Given the description of an element on the screen output the (x, y) to click on. 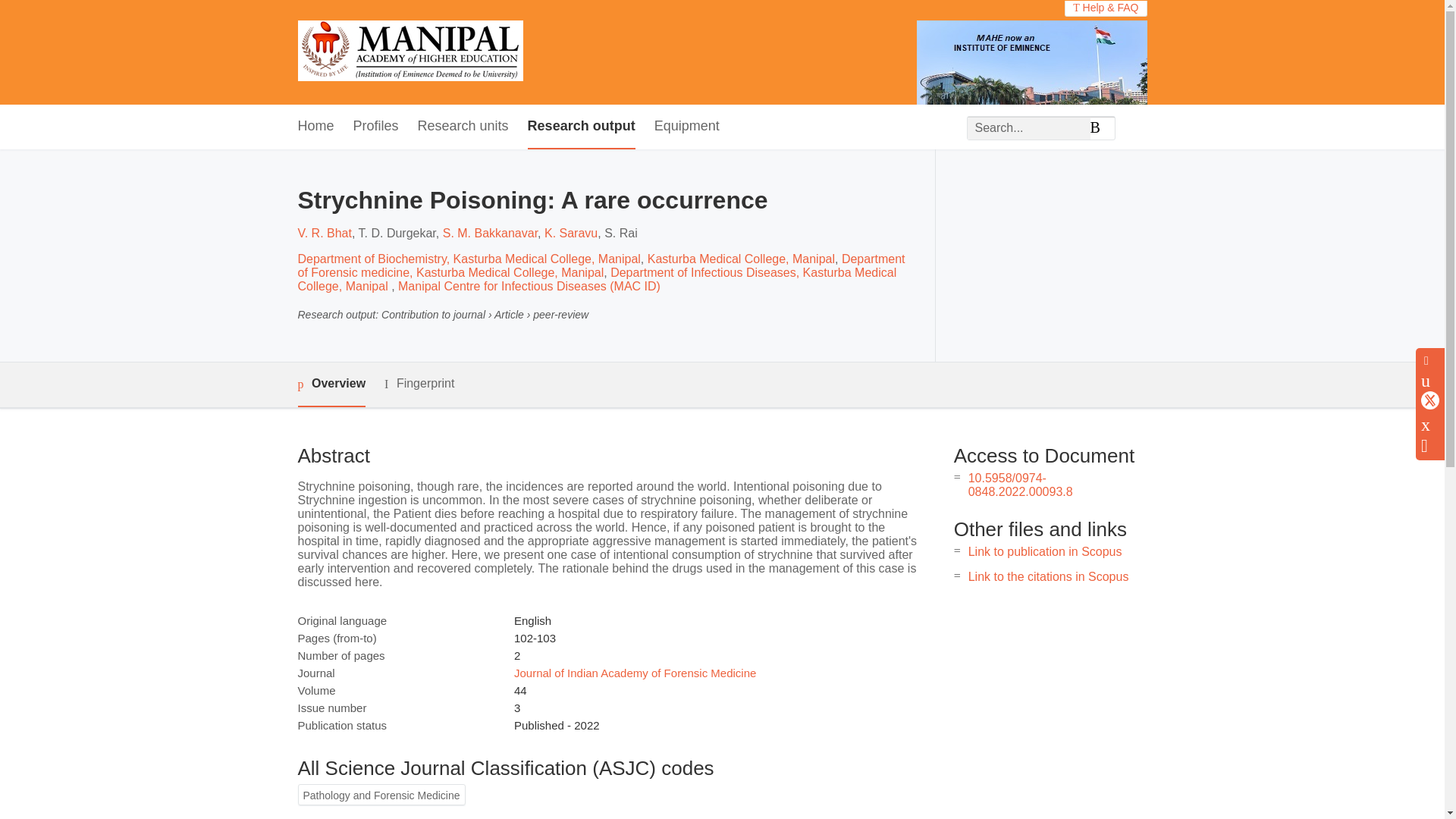
Kasturba Medical College, Manipal (740, 258)
Research output (580, 126)
Equipment (686, 126)
Overview (331, 384)
V. R. Bhat (323, 232)
K. Saravu (570, 232)
Manipal Academy of Higher Education, Manipal, India Home (409, 52)
S. M. Bakkanavar (489, 232)
Link to the citations in Scopus (1048, 576)
Research units (462, 126)
Link to publication in Scopus (1045, 551)
Fingerprint (419, 383)
